Given the description of an element on the screen output the (x, y) to click on. 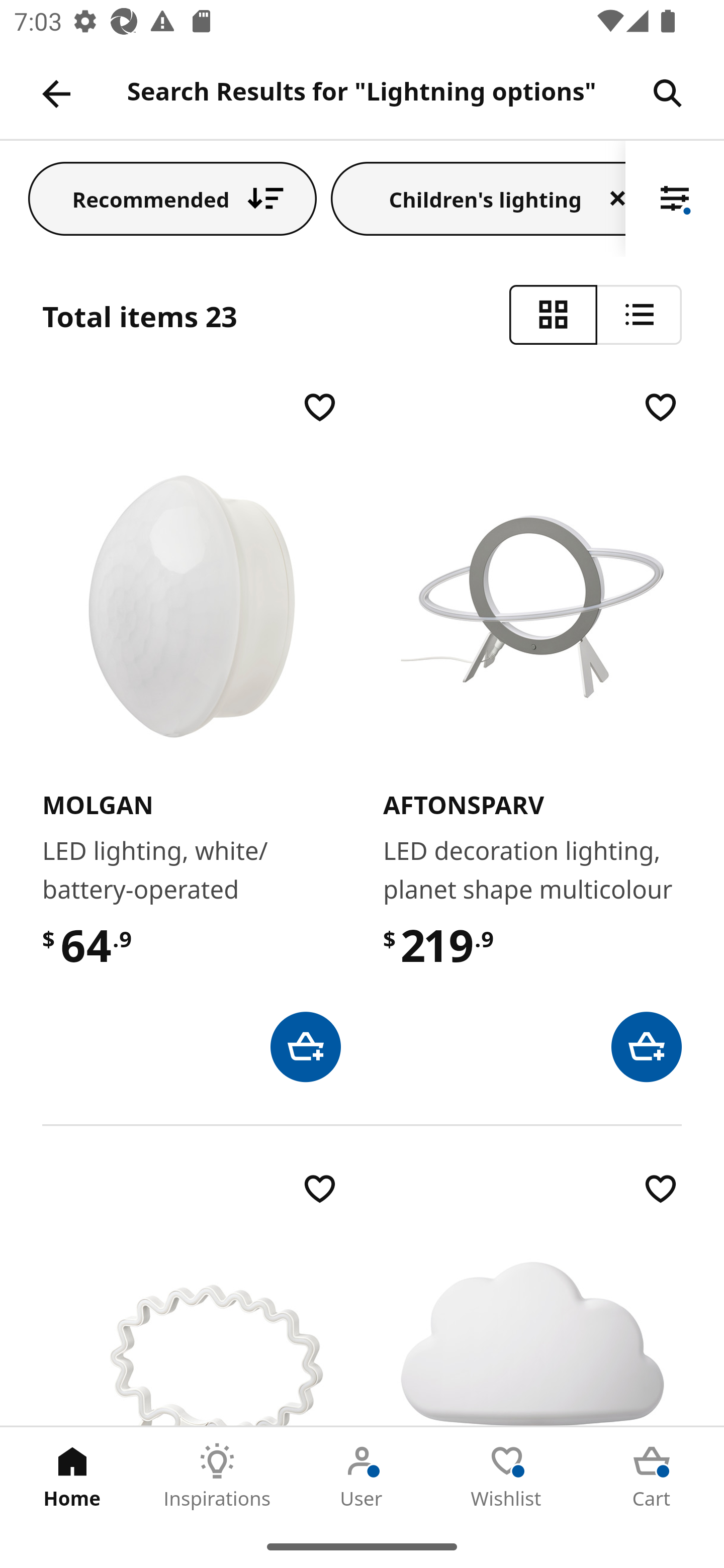
Recommended (172, 198)
Children's lighting (477, 198)
Home
Tab 1 of 5 (72, 1476)
Inspirations
Tab 2 of 5 (216, 1476)
User
Tab 3 of 5 (361, 1476)
Wishlist
Tab 4 of 5 (506, 1476)
Cart
Tab 5 of 5 (651, 1476)
